Given the description of an element on the screen output the (x, y) to click on. 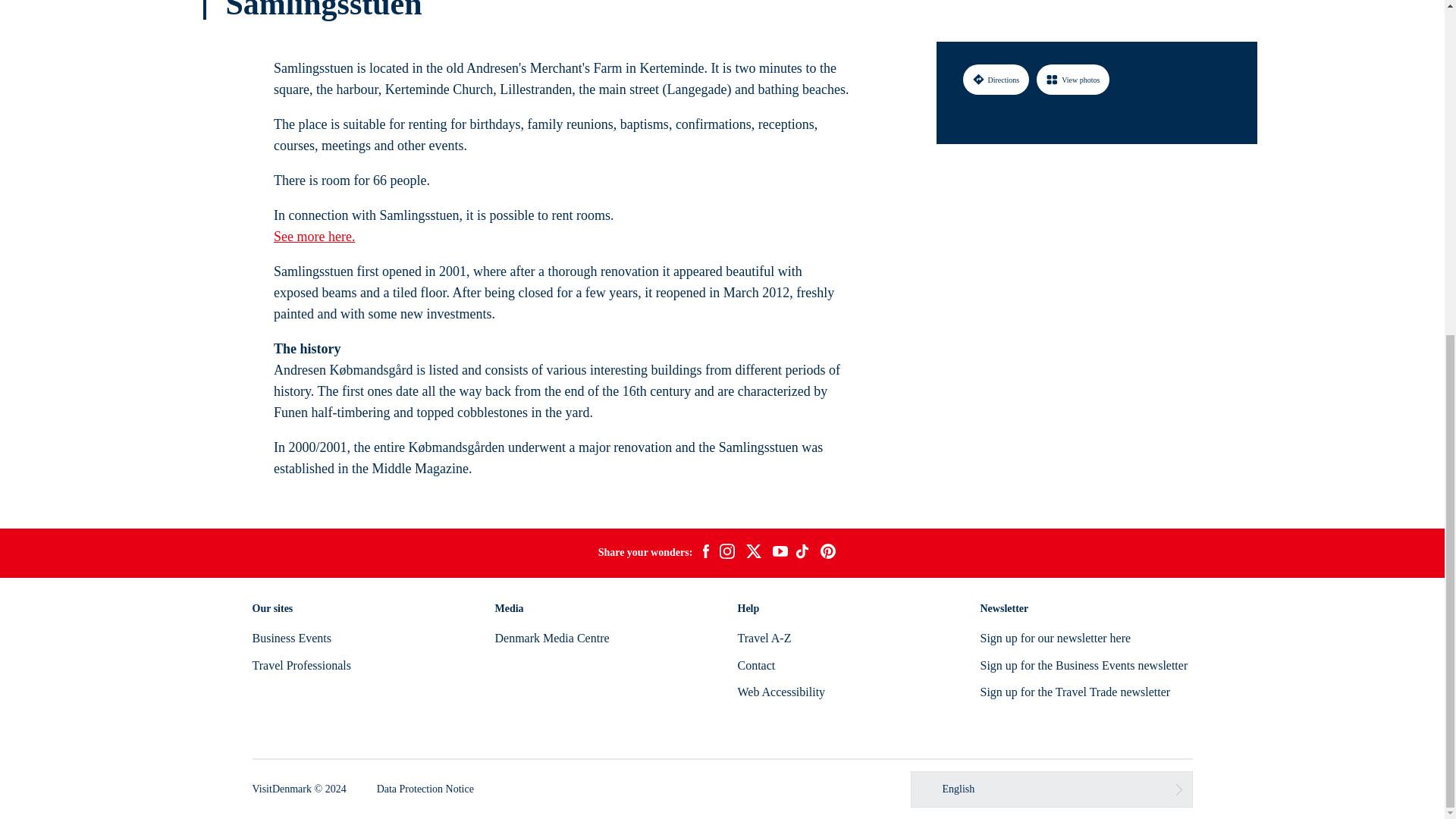
Business Events (290, 637)
facebook (705, 553)
Data Protection Notice (425, 789)
Data Protection Notice (425, 789)
Travel A-Z (763, 637)
twitter (753, 553)
Travel Professionals (300, 665)
tiktok (804, 553)
Sign up for the Business Events newsletter (1083, 665)
Web Accessibility (780, 691)
Denmark Media Centre (551, 637)
Travel A-Z (763, 637)
Denmark Media Centre (551, 637)
Contact (755, 665)
Contact (755, 665)
